Given the description of an element on the screen output the (x, y) to click on. 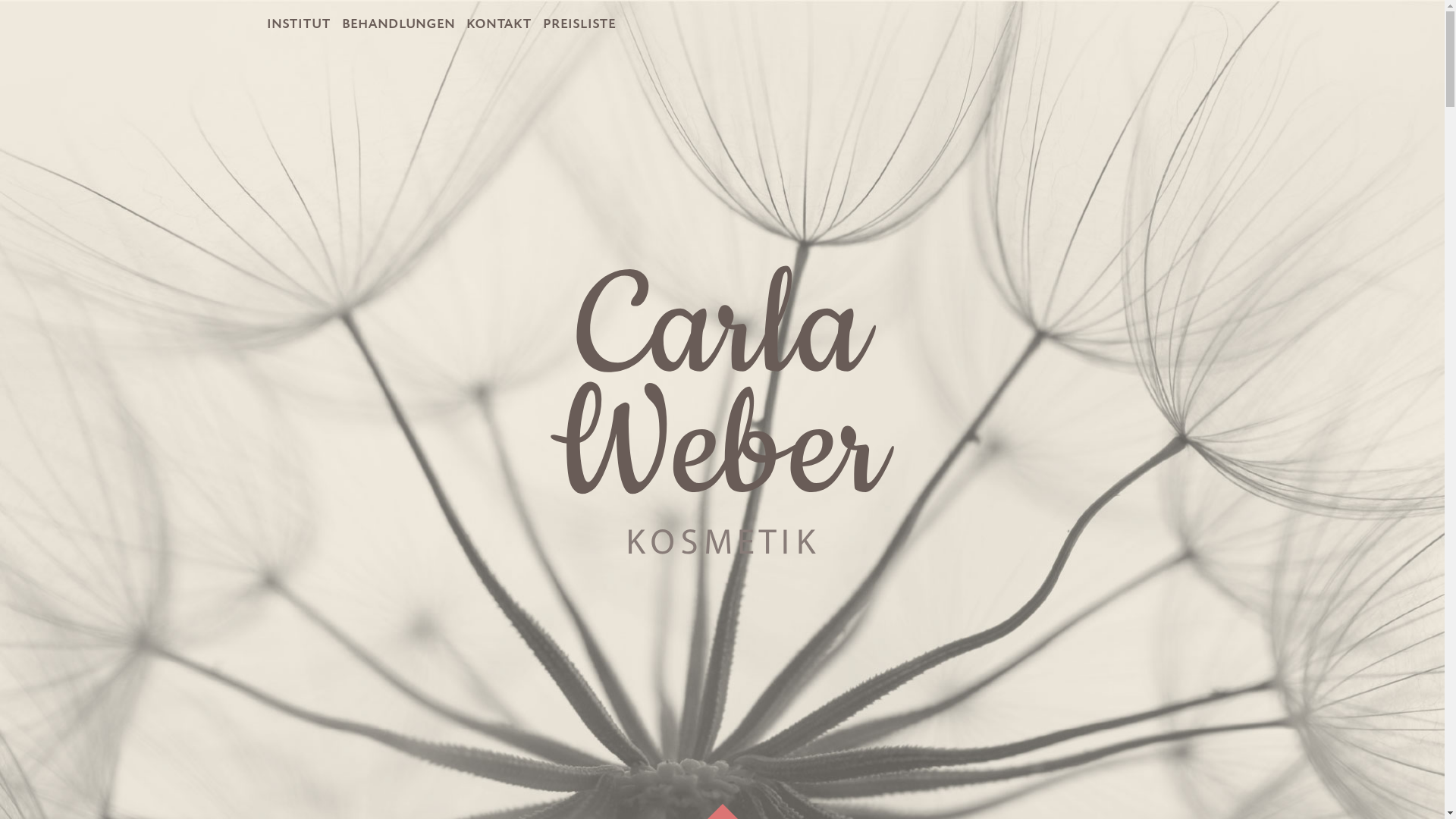
KONTAKT Element type: text (499, 24)
INSTITUT Element type: text (298, 24)
PREISLISTE Element type: text (578, 24)
BEHANDLUNGEN Element type: text (398, 24)
